Given the description of an element on the screen output the (x, y) to click on. 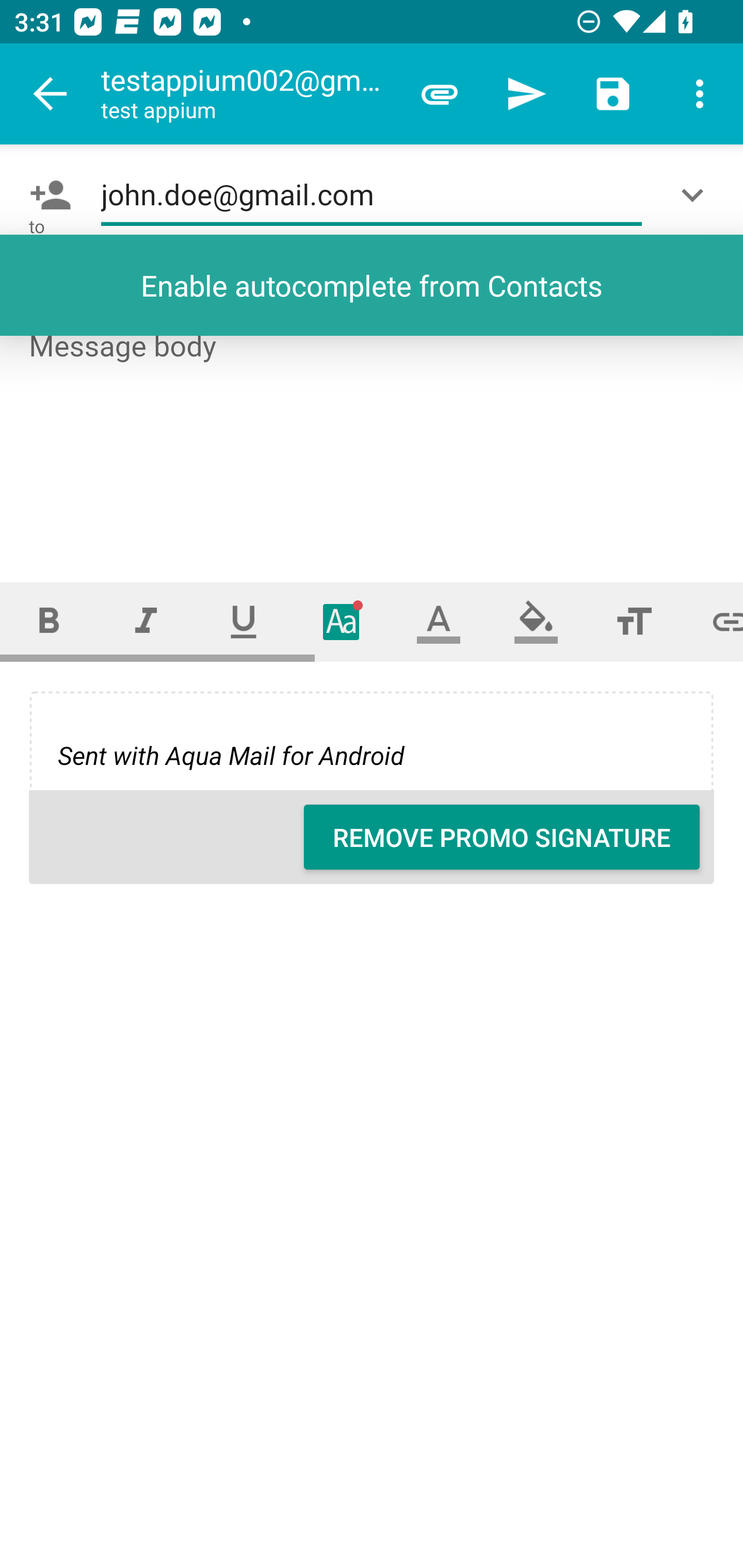
Navigate up (50, 93)
testappium002@gmail.com test appium (248, 93)
Attach (439, 93)
Send (525, 93)
Save (612, 93)
More options (699, 93)
Pick contact: To (46, 195)
Show/Add CC/BCC (696, 195)
john.doe@gmail.com (371, 195)
Message subject (371, 284)
Message body (372, 438)
Bold (48, 621)
Italic (145, 621)
Underline (243, 621)
Typeface (font) (341, 621)
Text color (438, 621)
Fill color (536, 621)
Font size (633, 621)
Set link (712, 621)
REMOVE PROMO SIGNATURE (501, 837)
